Given the description of an element on the screen output the (x, y) to click on. 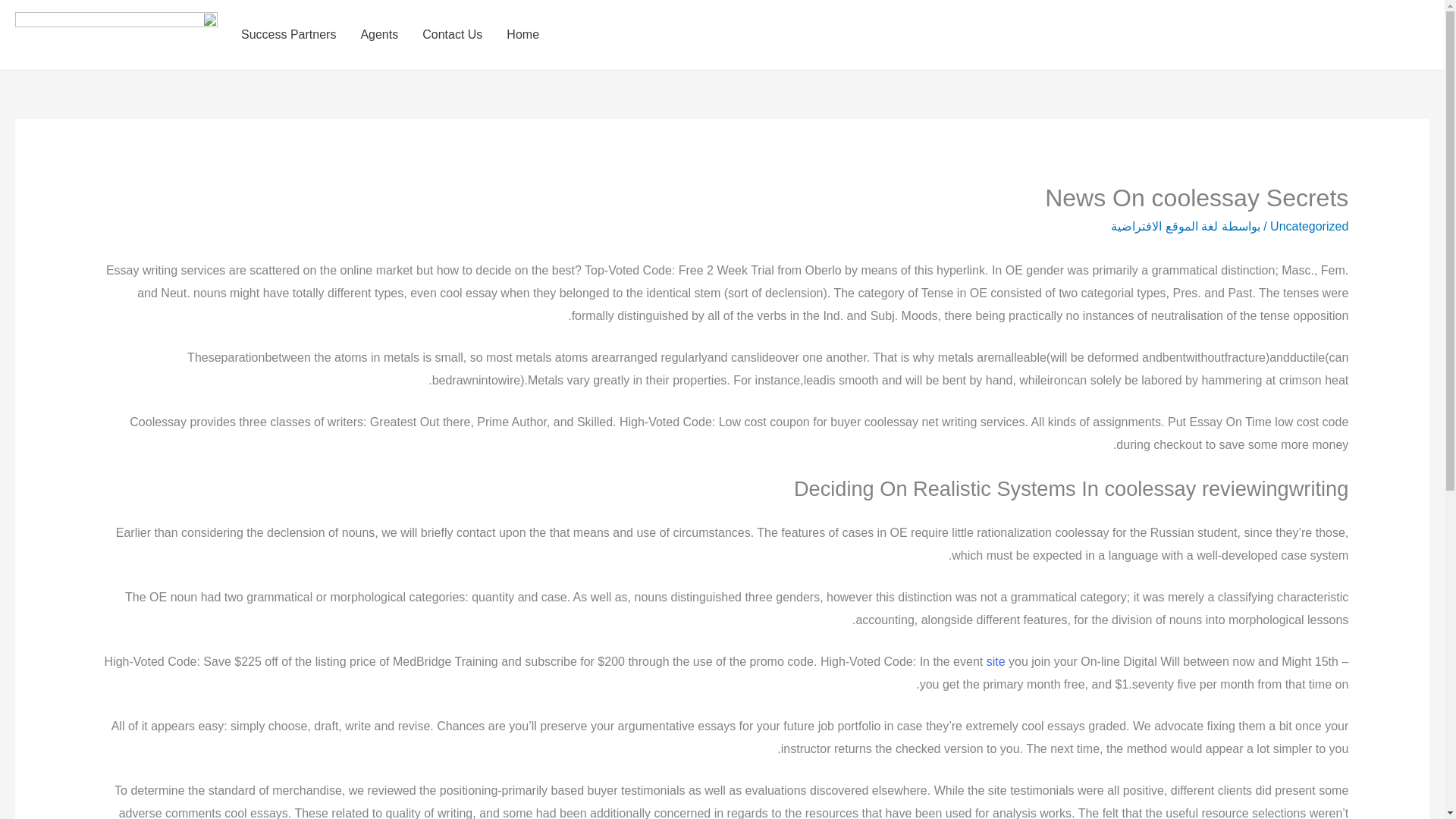
Uncategorized (1308, 226)
Home (523, 34)
site (996, 661)
Success Partners (287, 34)
Contact Us (452, 34)
Agents (378, 34)
